Given the description of an element on the screen output the (x, y) to click on. 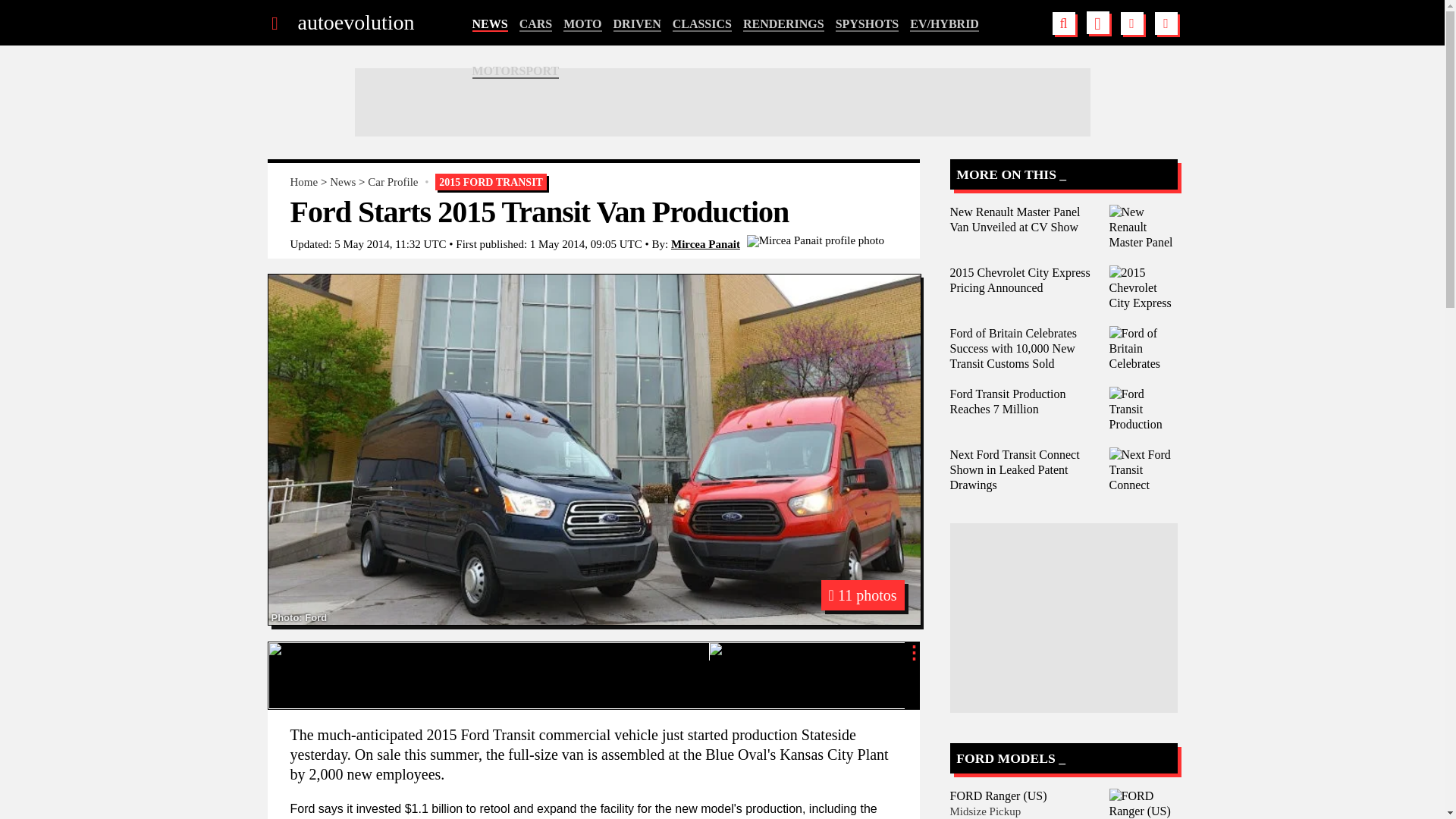
DRIVEN (636, 24)
Home (303, 182)
SPYSHOTS (867, 24)
Car Profile (392, 182)
News (342, 182)
MOTORSPORT (515, 71)
autoevolution (355, 22)
autoevolution (355, 22)
CLASSICS (702, 24)
RENDERINGS (783, 24)
